Given the description of an element on the screen output the (x, y) to click on. 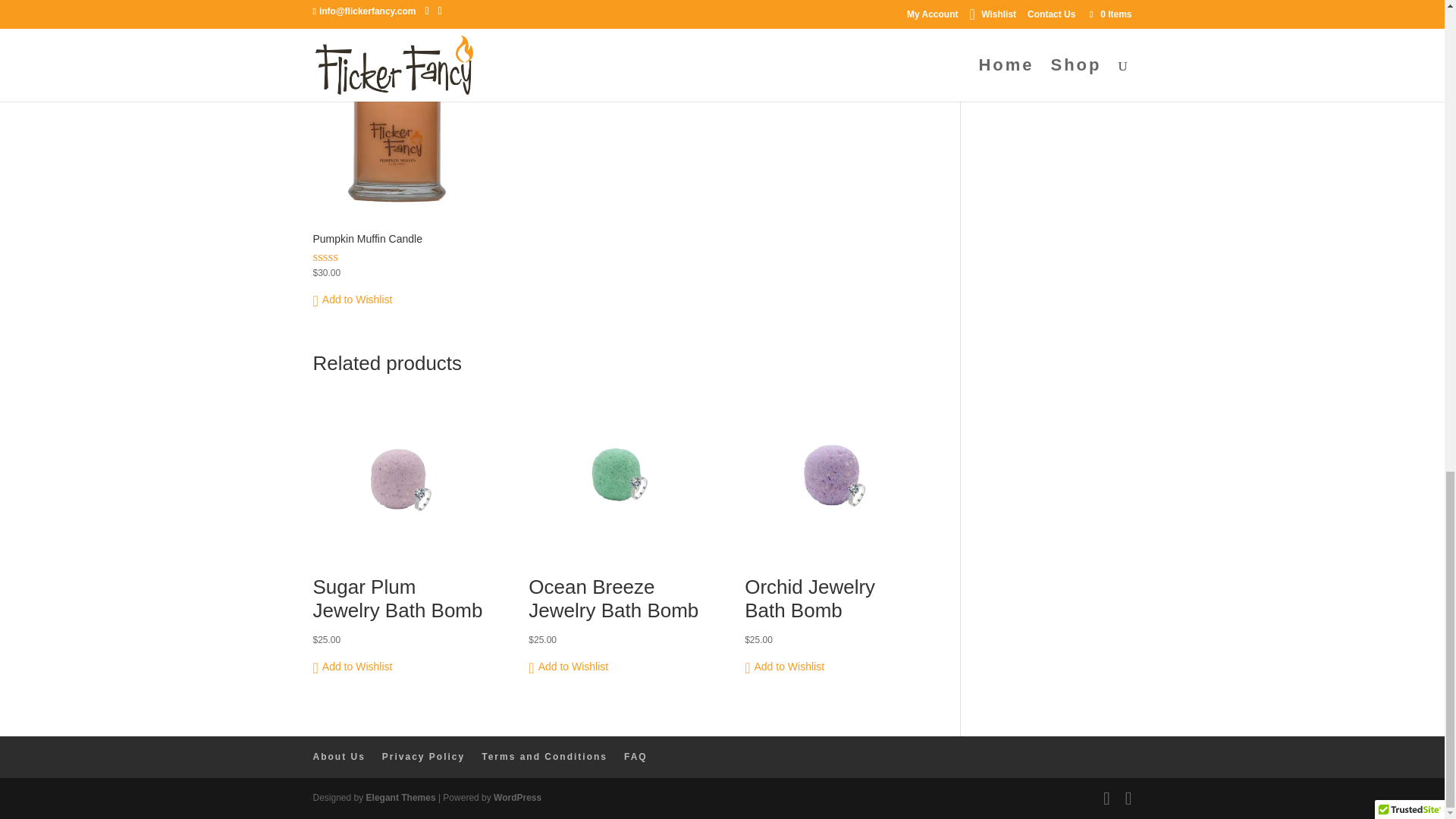
Add to Wishlist (352, 300)
Premium WordPress Themes (400, 797)
Add to Wishlist (352, 667)
